Given the description of an element on the screen output the (x, y) to click on. 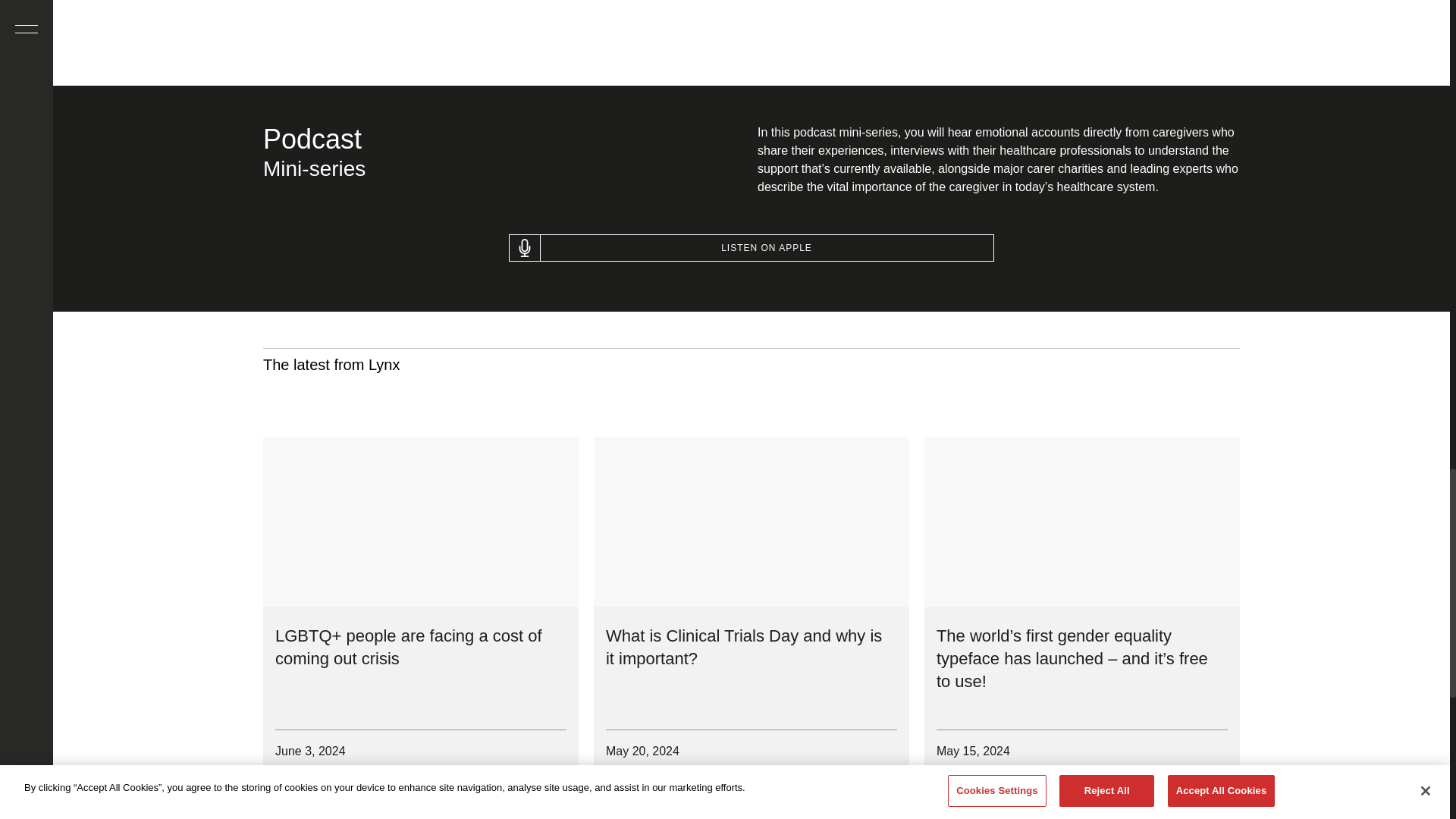
Blog (632, 786)
What is Clinical Trials Day and why is it important? (743, 647)
What is Clinical Trials Day and why is it important? (743, 647)
News (964, 786)
LISTEN ON APPLE (751, 247)
NEWS (964, 786)
BLOG (302, 786)
Blog (302, 786)
What is Clinical Trials Day and why is it important? (751, 521)
Listen on Apple (751, 247)
